Given the description of an element on the screen output the (x, y) to click on. 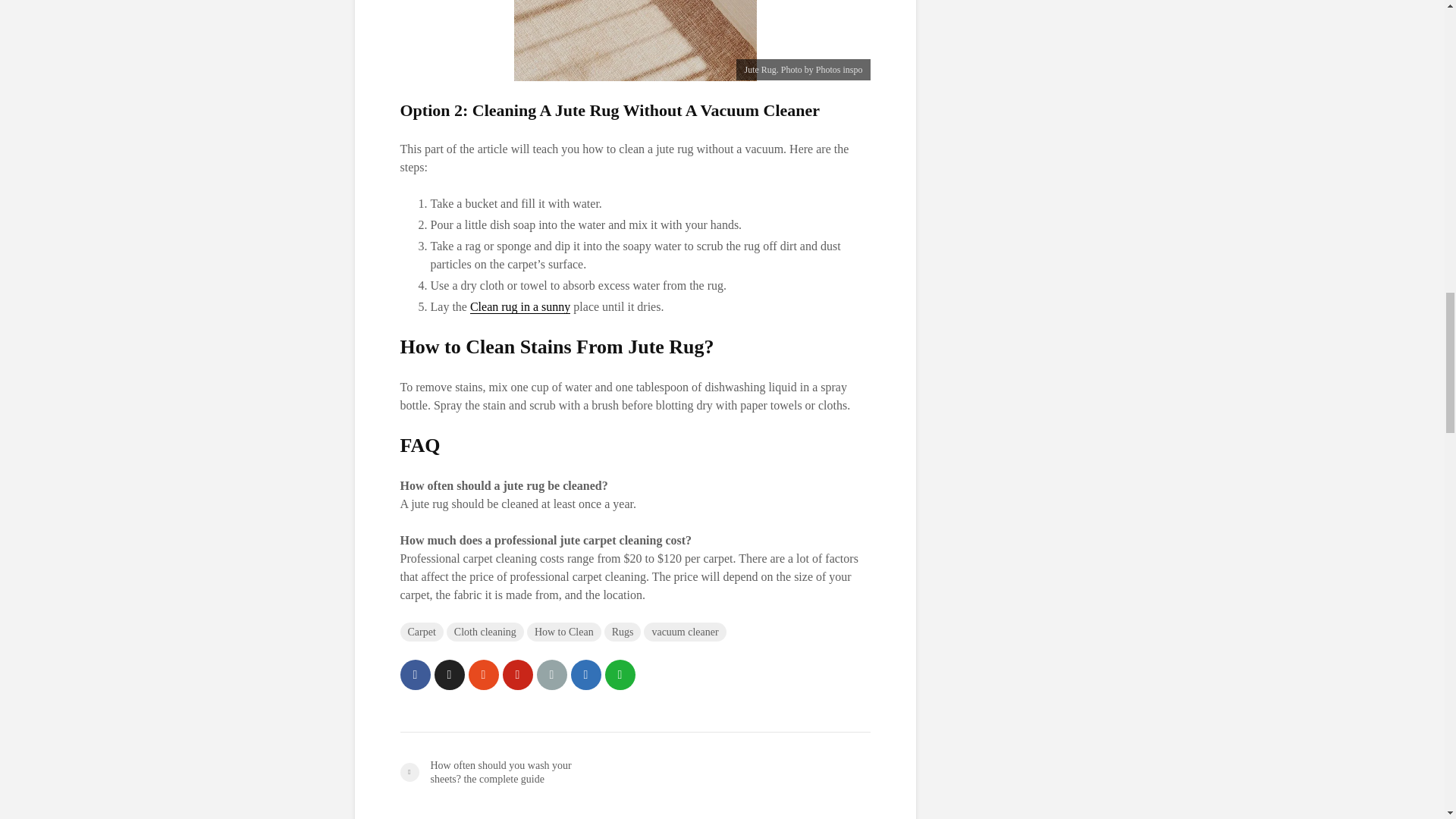
Cloth cleaning (485, 631)
Clean rug in a sunny (520, 306)
Rugs (623, 631)
Carpet (422, 631)
How to Clean (564, 631)
